Given the description of an element on the screen output the (x, y) to click on. 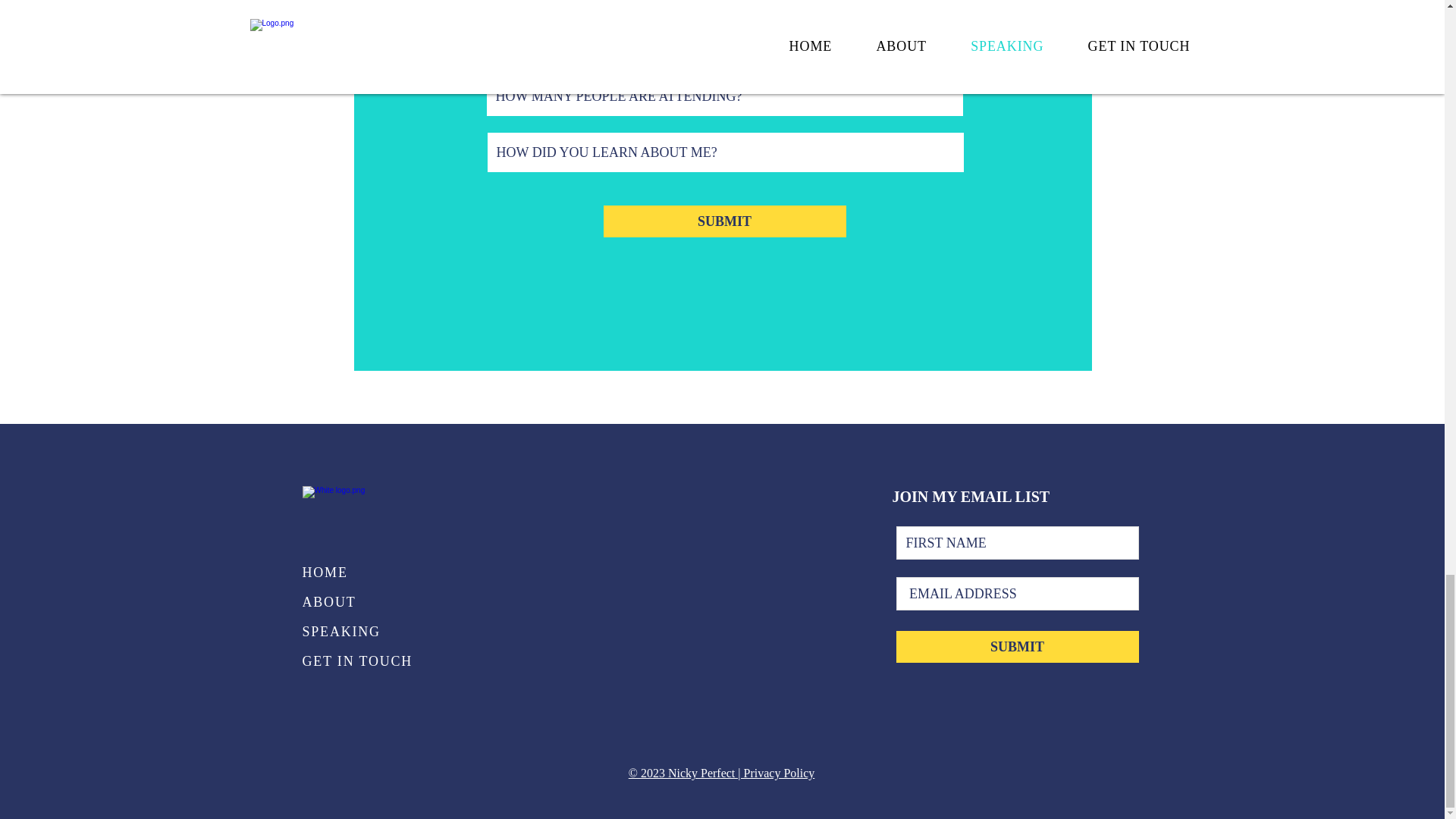
ABOUT (369, 602)
HOME (369, 572)
GET IN TOUCH (369, 661)
SUBMIT (1017, 646)
SUBMIT (724, 221)
SPEAKING (369, 632)
